Given the description of an element on the screen output the (x, y) to click on. 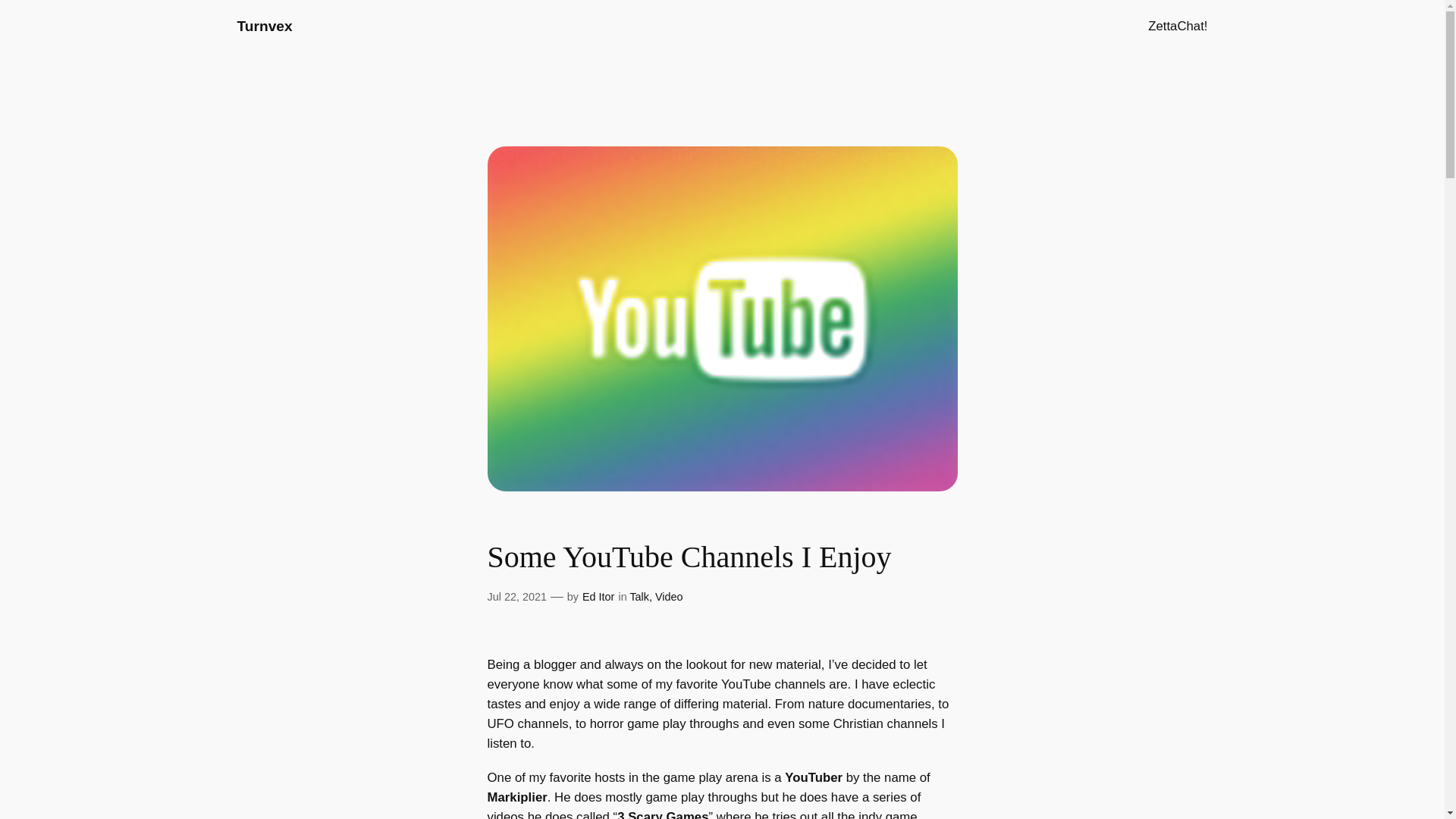
ZettaChat! (1177, 26)
Video (668, 596)
Talk (638, 596)
Jul 22, 2021 (516, 596)
Ed Itor (598, 596)
Turnvex (263, 26)
